Given the description of an element on the screen output the (x, y) to click on. 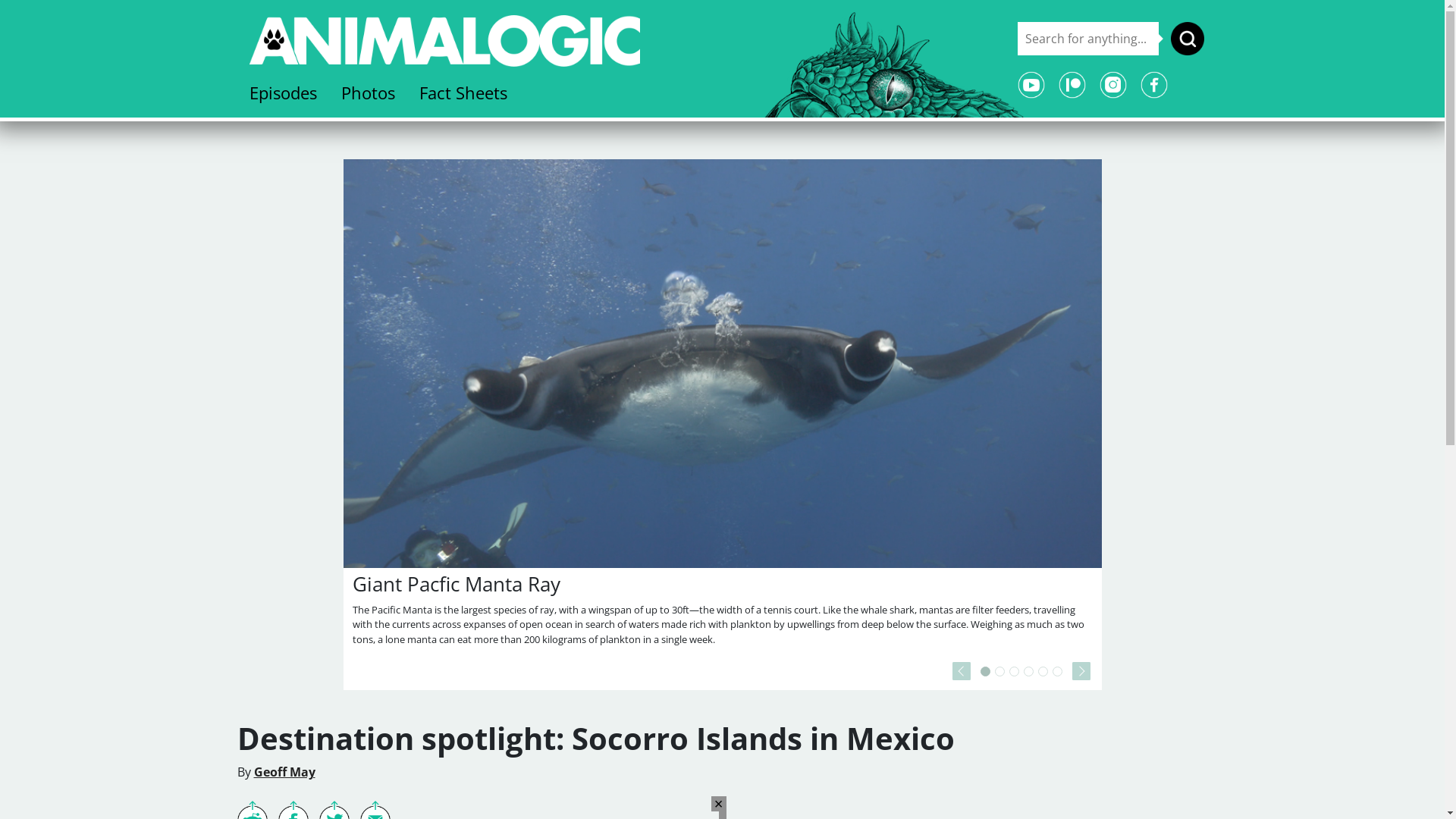
Fact Sheets Element type: text (462, 92)
Previous Element type: text (961, 670)
Photos Element type: text (368, 92)
Next Element type: text (1081, 670)
Geoff May Element type: text (283, 771)
Episodes Element type: text (282, 92)
